Given the description of an element on the screen output the (x, y) to click on. 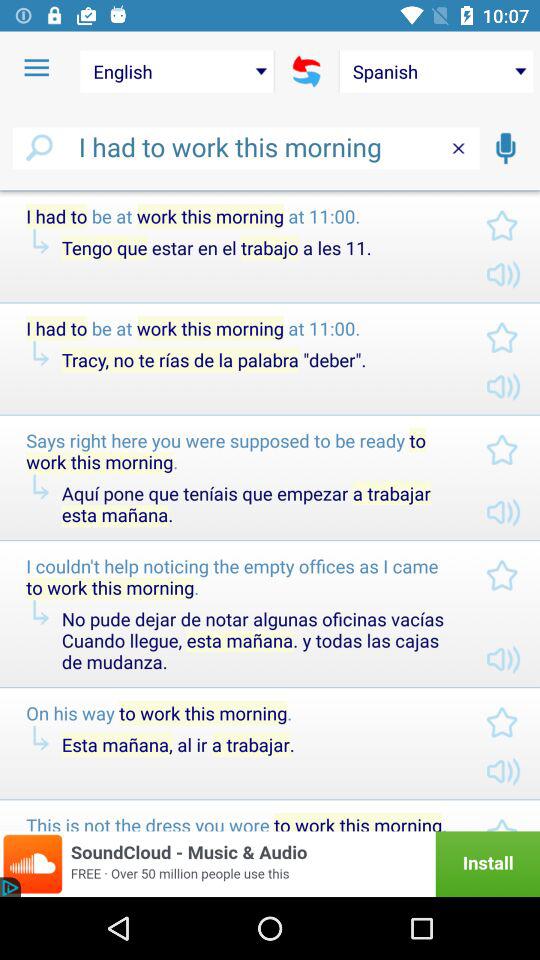
clear field (458, 148)
